Given the description of an element on the screen output the (x, y) to click on. 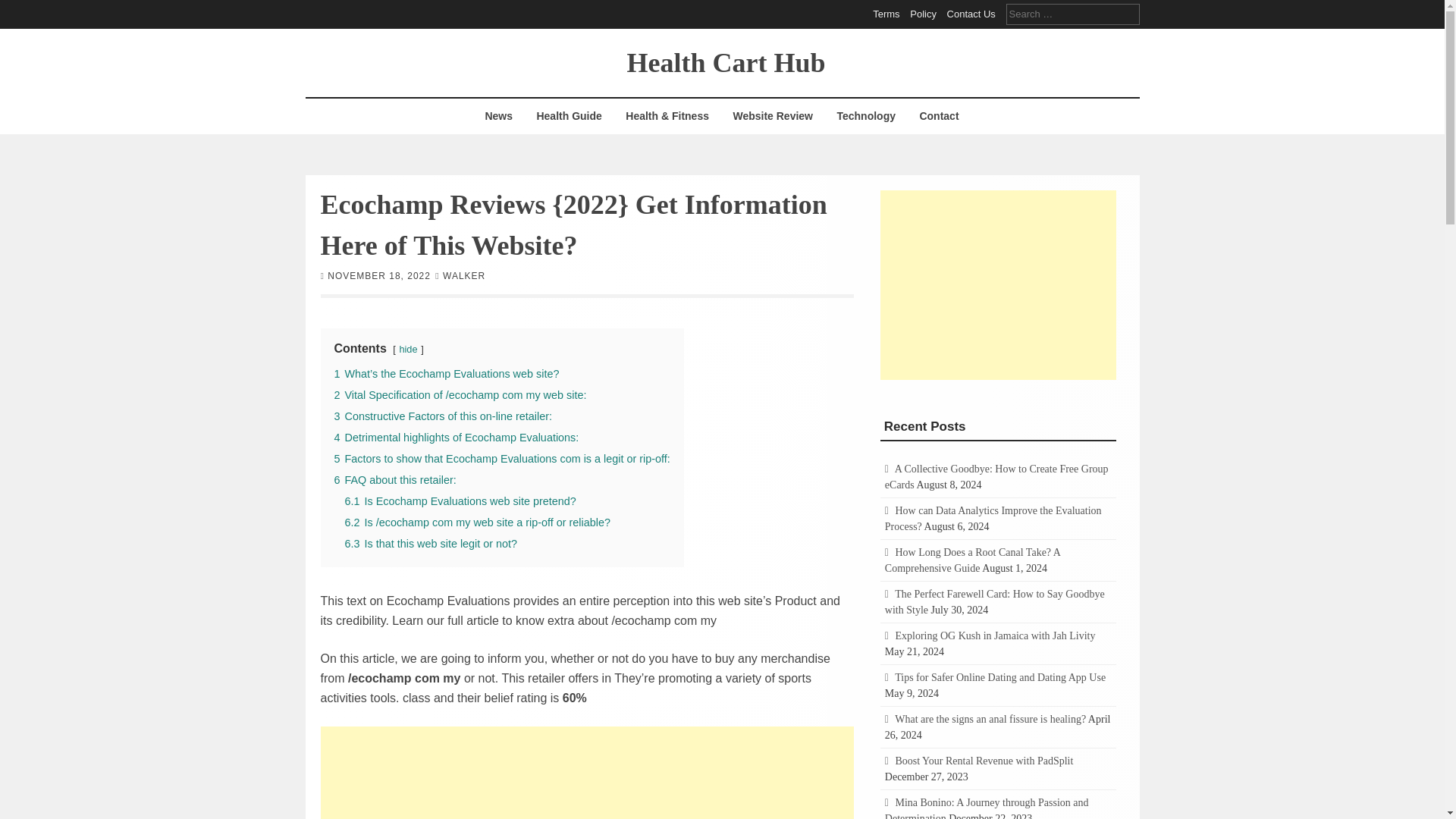
Search (23, 9)
3 Constructive Factors of this on-line retailer: (442, 415)
The Perfect Farewell Card: How to Say Goodbye with Style (995, 601)
Terms (885, 13)
6.3 Is that this web site legit or not? (429, 542)
How Long Does a Root Canal Take? A Comprehensive Guide (972, 560)
News (498, 116)
What are the signs an anal fissure is healing? (990, 718)
Boost Your Rental Revenue with PadSplit (984, 760)
How can Data Analytics Improve the Evaluation Process? (993, 518)
